Given the description of an element on the screen output the (x, y) to click on. 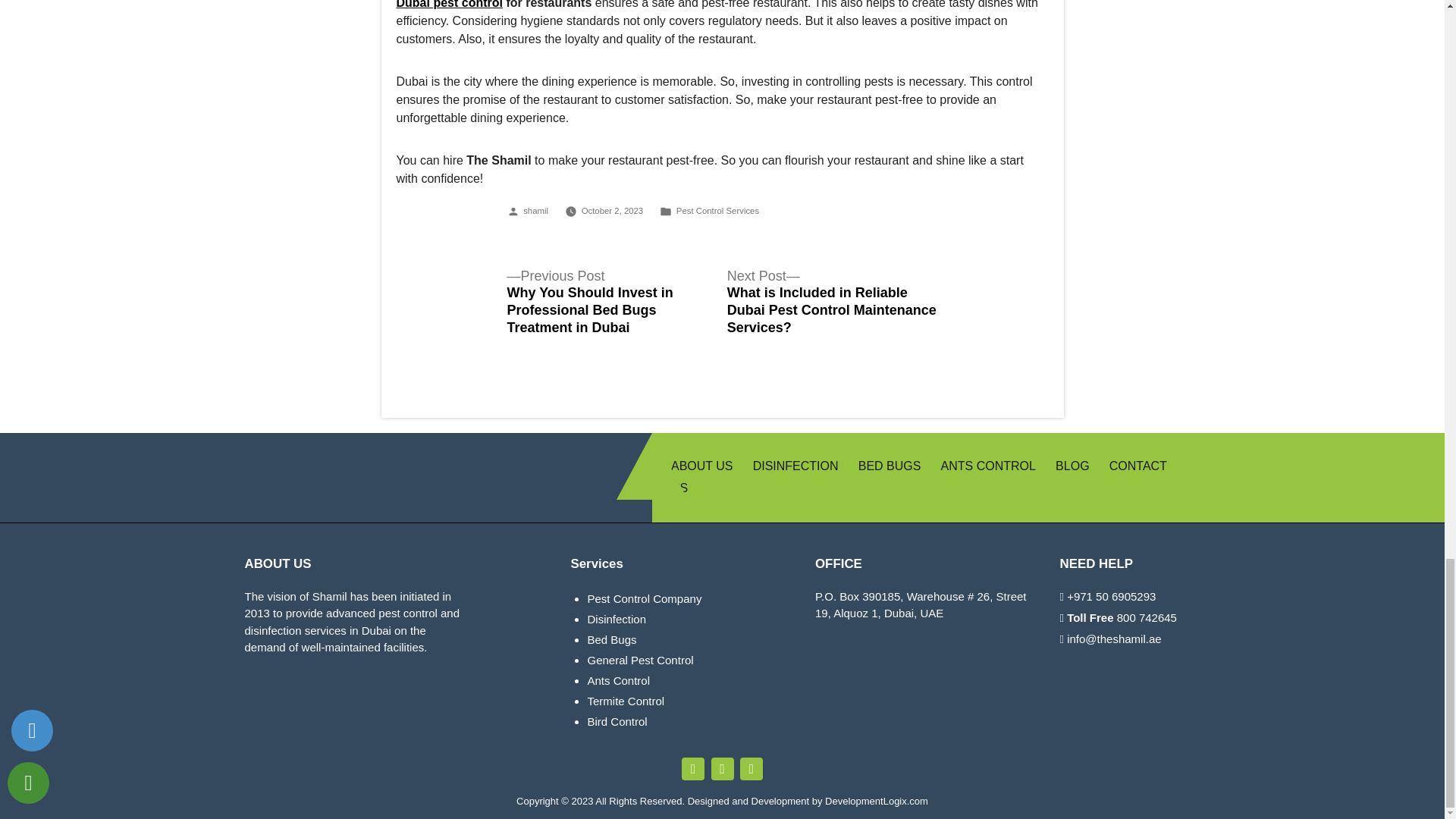
October 2, 2023 (611, 210)
shamil (535, 210)
Dubai pest control (449, 4)
